Given the description of an element on the screen output the (x, y) to click on. 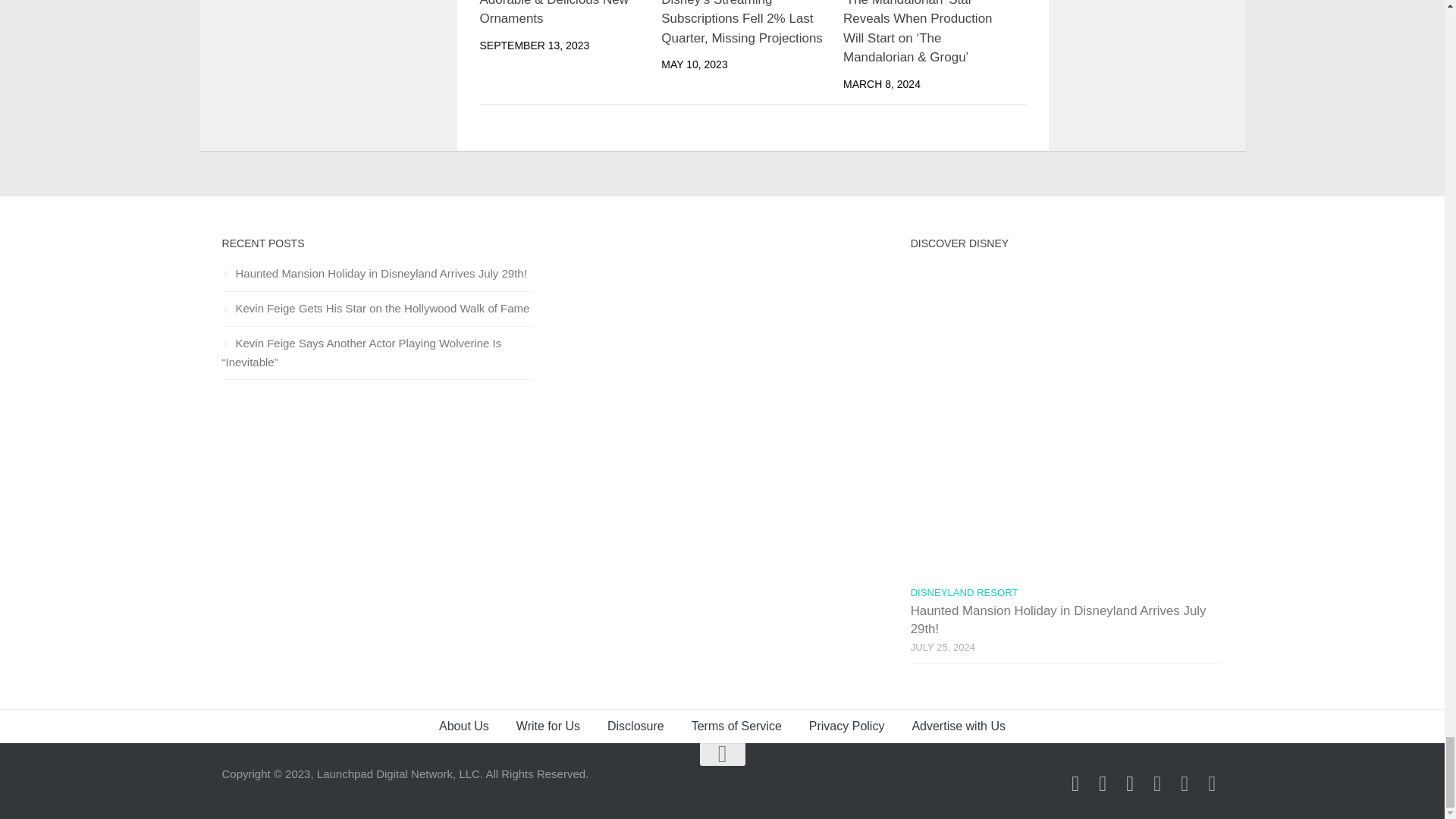
Follow us on Instagram (1102, 783)
Follow us on Facebook (1075, 783)
Follow us on Twitter (1129, 783)
